Given the description of an element on the screen output the (x, y) to click on. 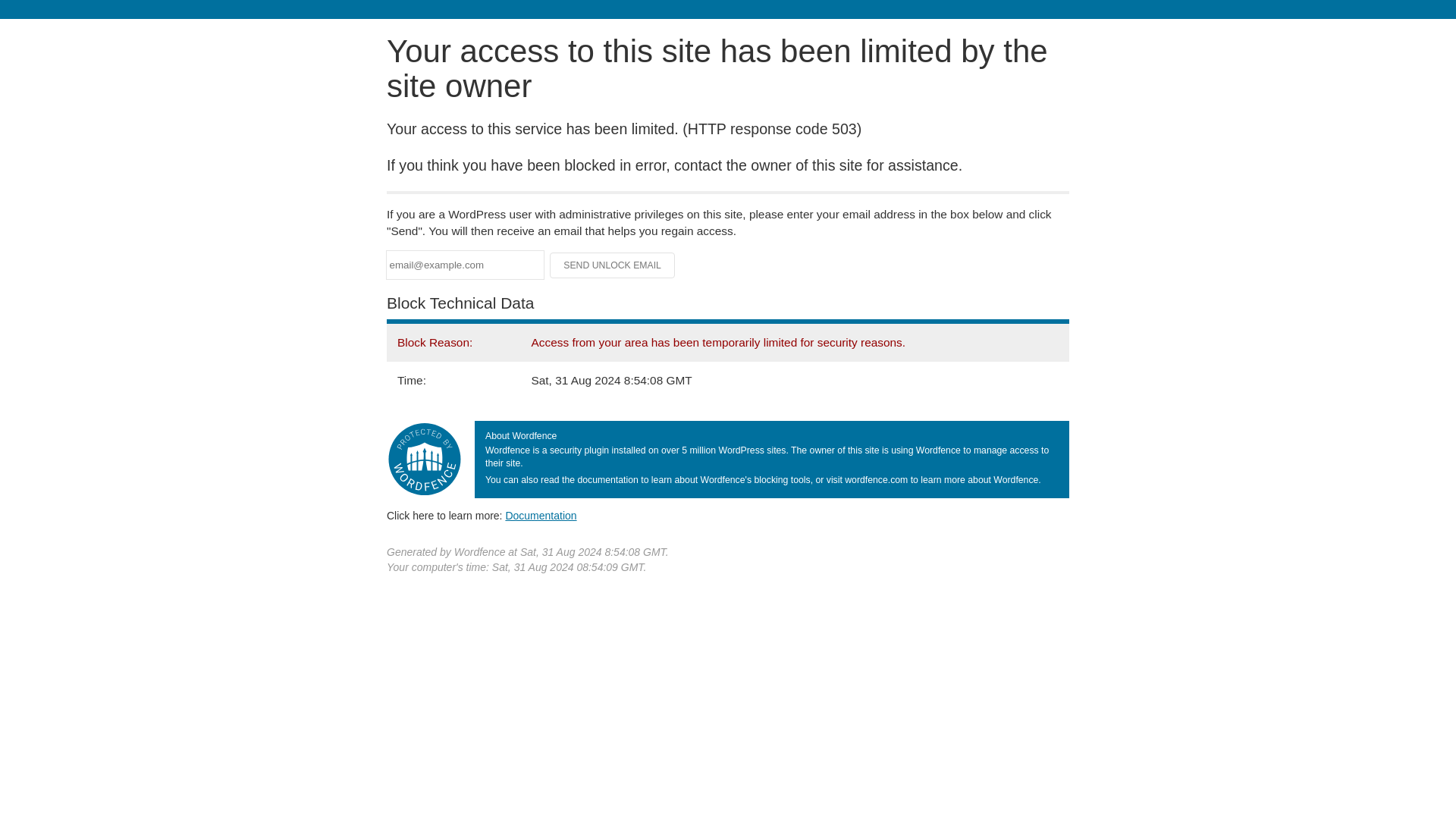
Send Unlock Email (612, 265)
Documentation (540, 515)
Send Unlock Email (612, 265)
